Given the description of an element on the screen output the (x, y) to click on. 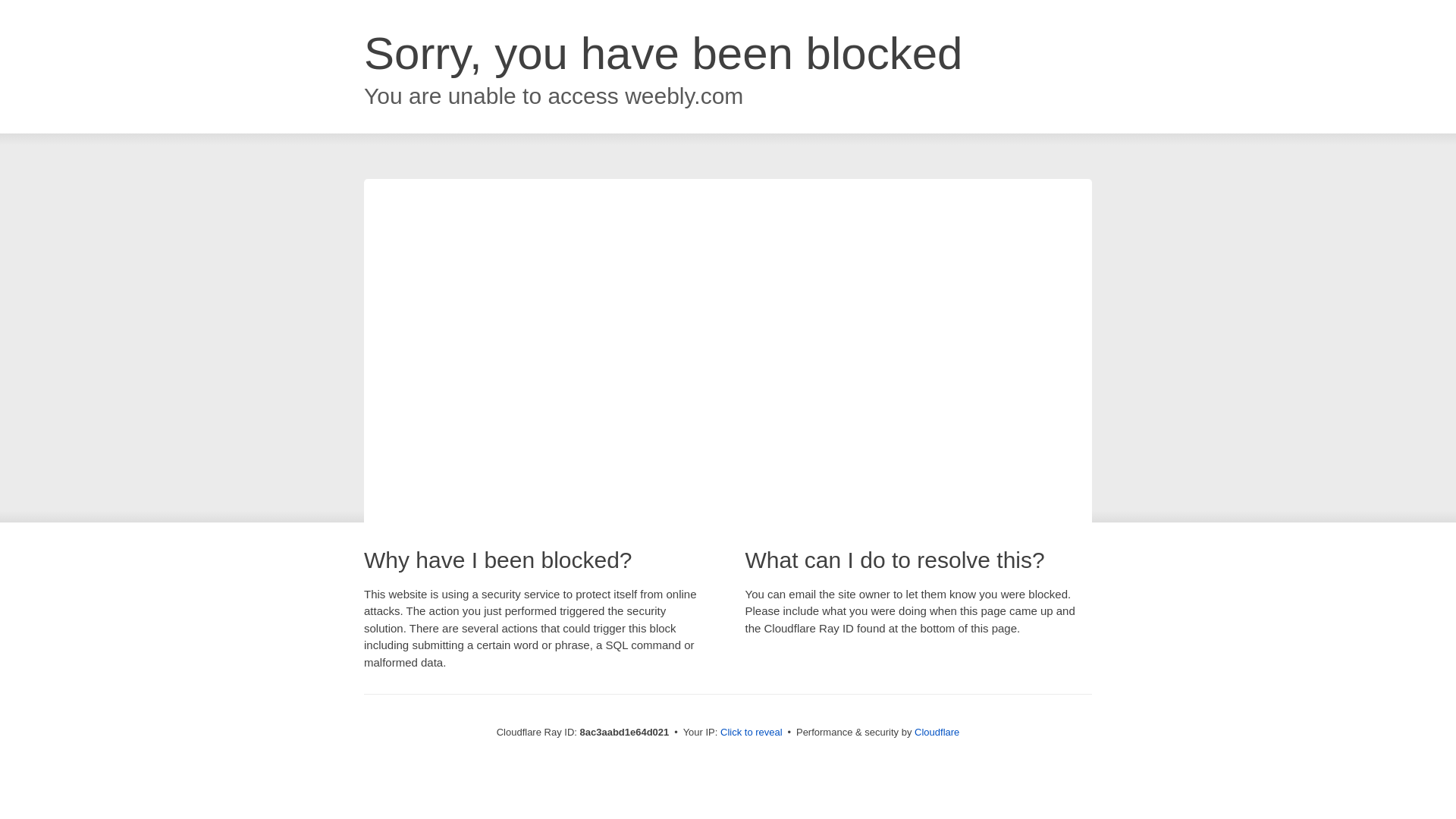
Click to reveal (751, 732)
Cloudflare (936, 731)
